Given the description of an element on the screen output the (x, y) to click on. 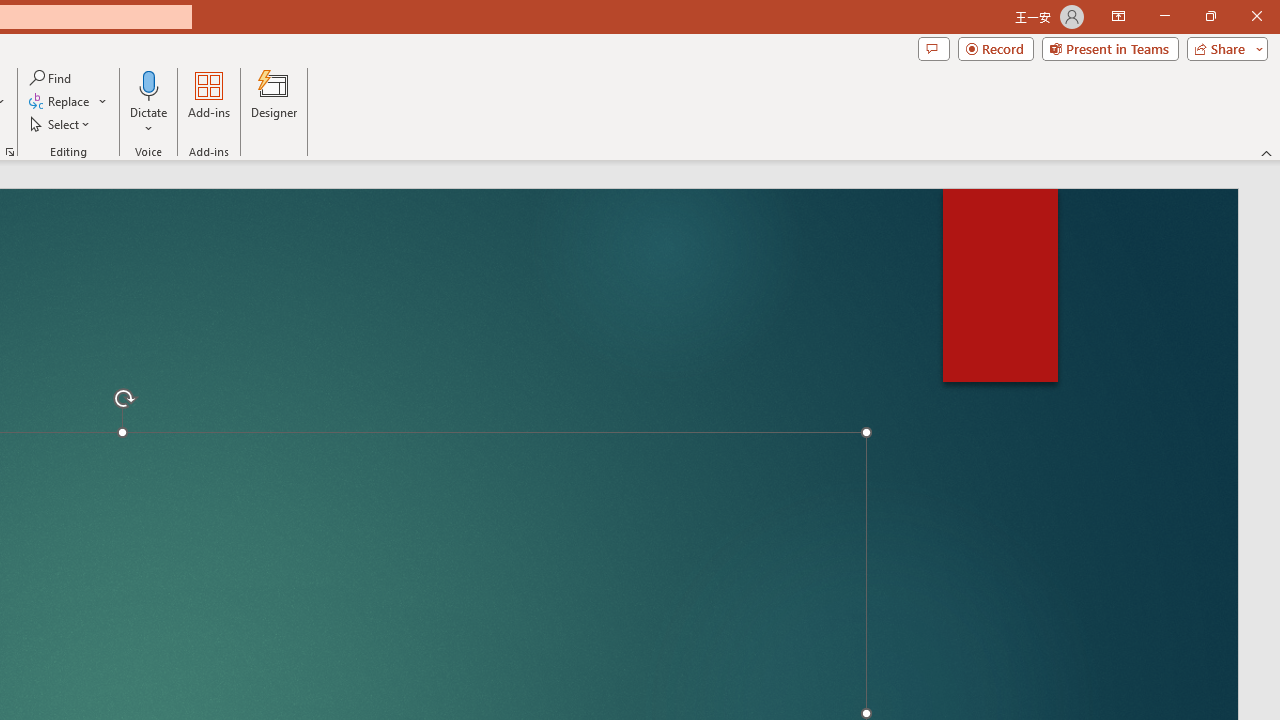
Select (61, 124)
Dictate (149, 102)
Find... (51, 78)
Replace... (68, 101)
